Given the description of an element on the screen output the (x, y) to click on. 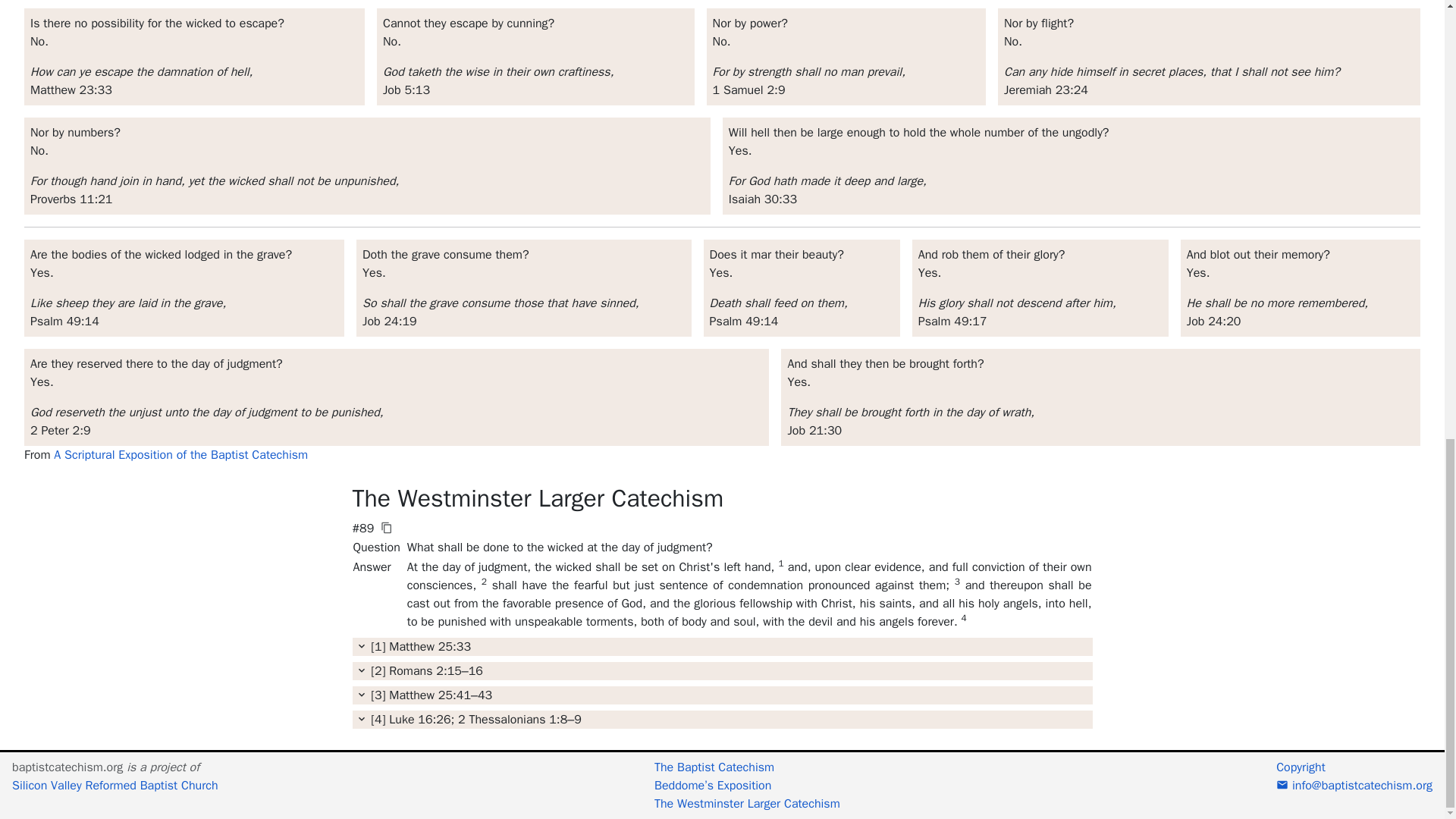
Silicon Valley Reformed Baptist Church (114, 785)
Copyright (1300, 767)
The Baptist Catechism (746, 767)
The Westminster Larger Catechism (746, 803)
A Scriptural Exposition of the Baptist Catechism (180, 454)
